Given the description of an element on the screen output the (x, y) to click on. 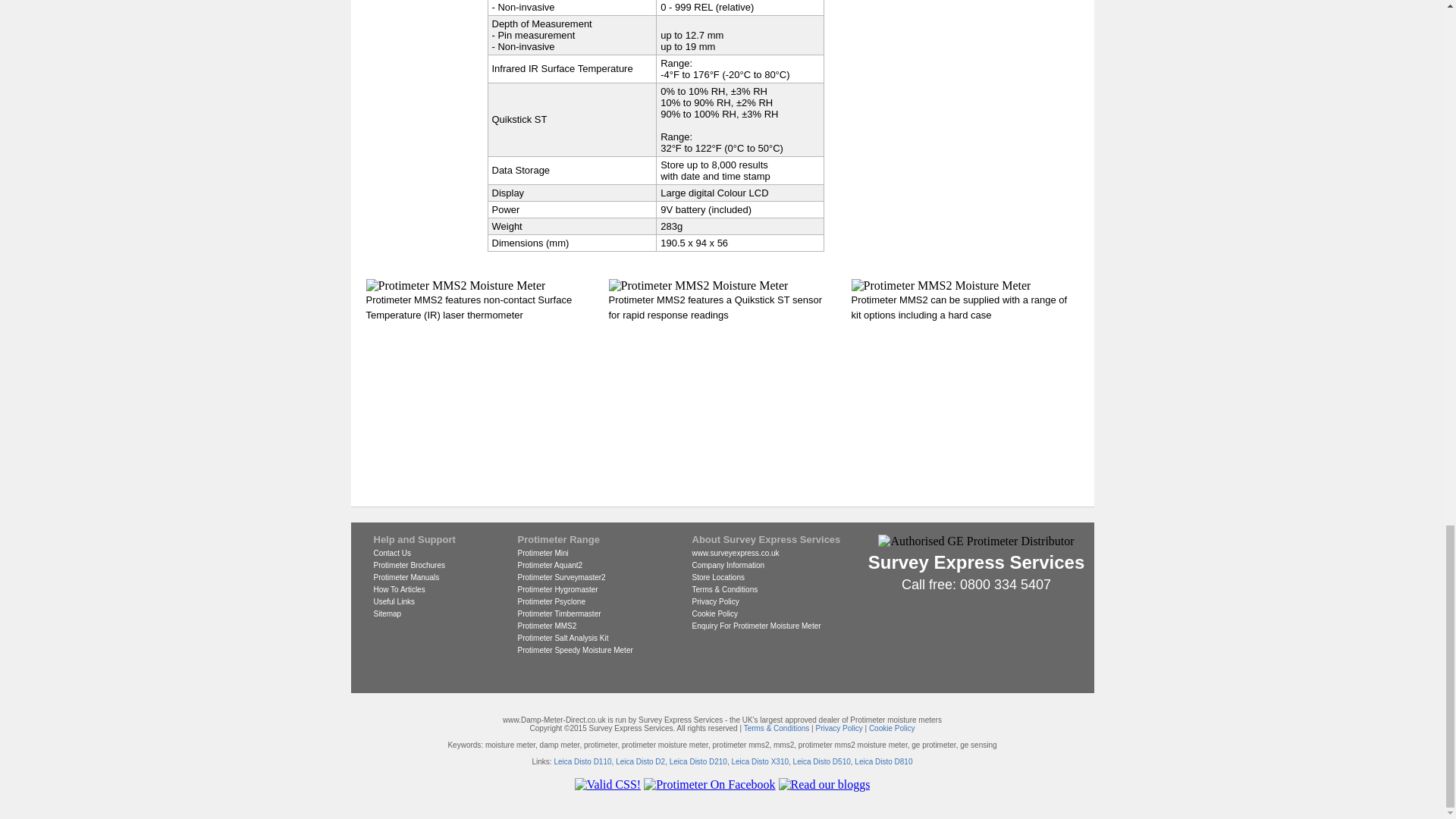
Useful Links (392, 601)
How To Articles (398, 589)
Protimeter Brochures (408, 565)
Sitemap (386, 613)
Protimeter Mini (541, 552)
Protimeter Manuals (405, 577)
Contact Us (391, 552)
